Given the description of an element on the screen output the (x, y) to click on. 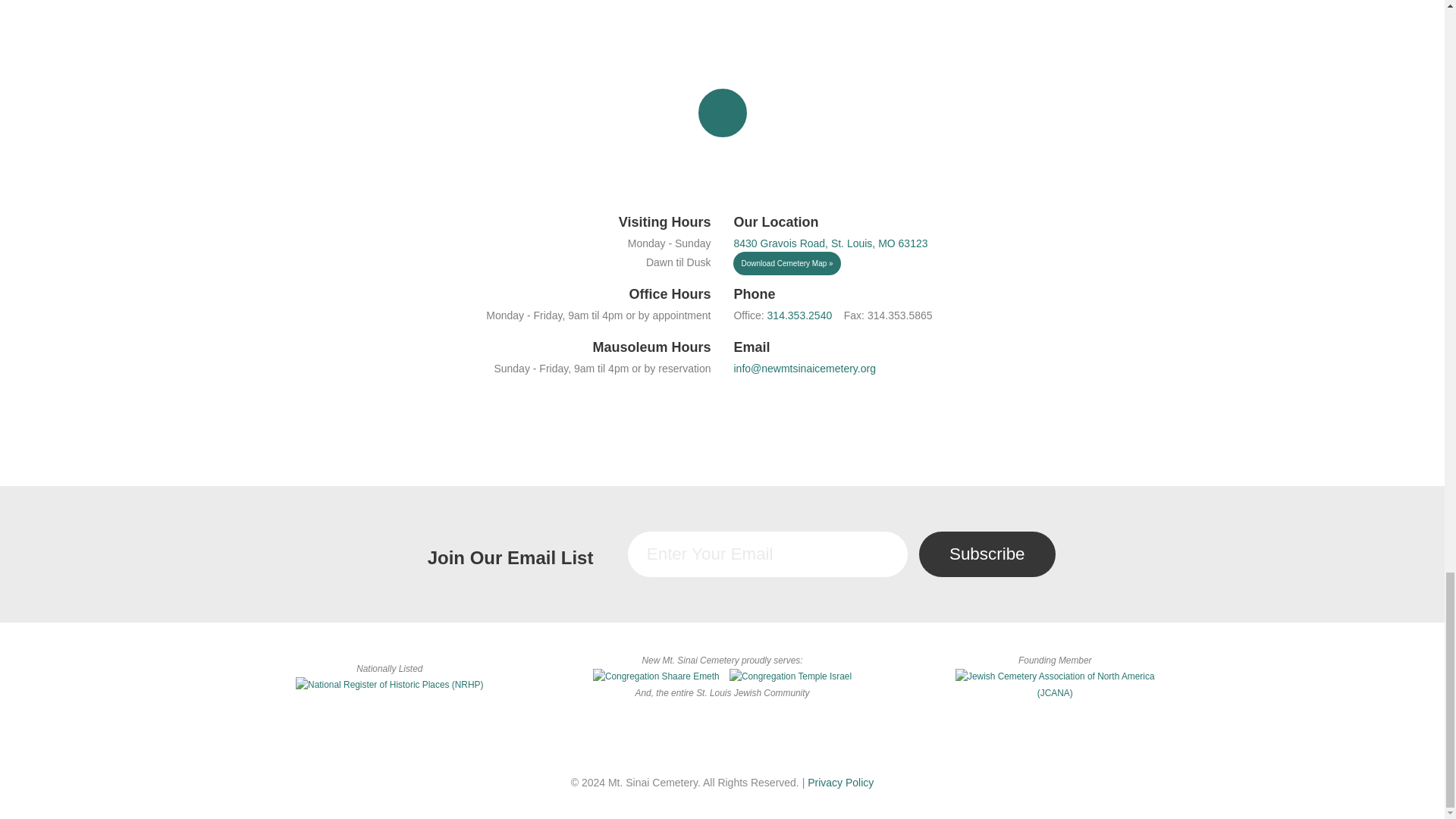
Privacy Policy (840, 782)
8430 Gravois Road, St. Louis, MO 63123 (830, 243)
Subscribe (986, 554)
Subscribe (986, 554)
314.353.2540 (799, 315)
DONATE ONLINE (722, 13)
